Given the description of an element on the screen output the (x, y) to click on. 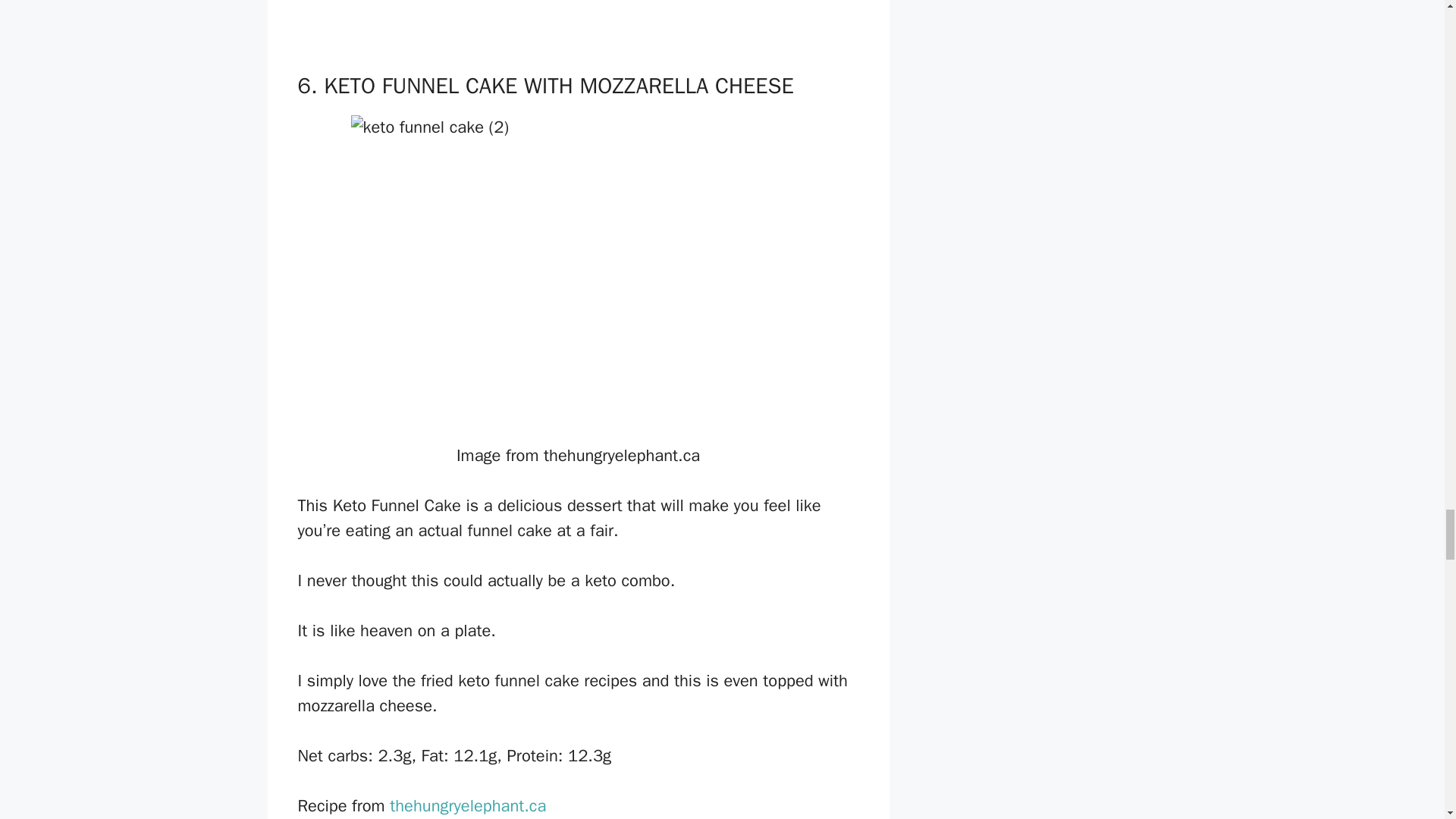
thehungryelephant.ca (468, 805)
